Given the description of an element on the screen output the (x, y) to click on. 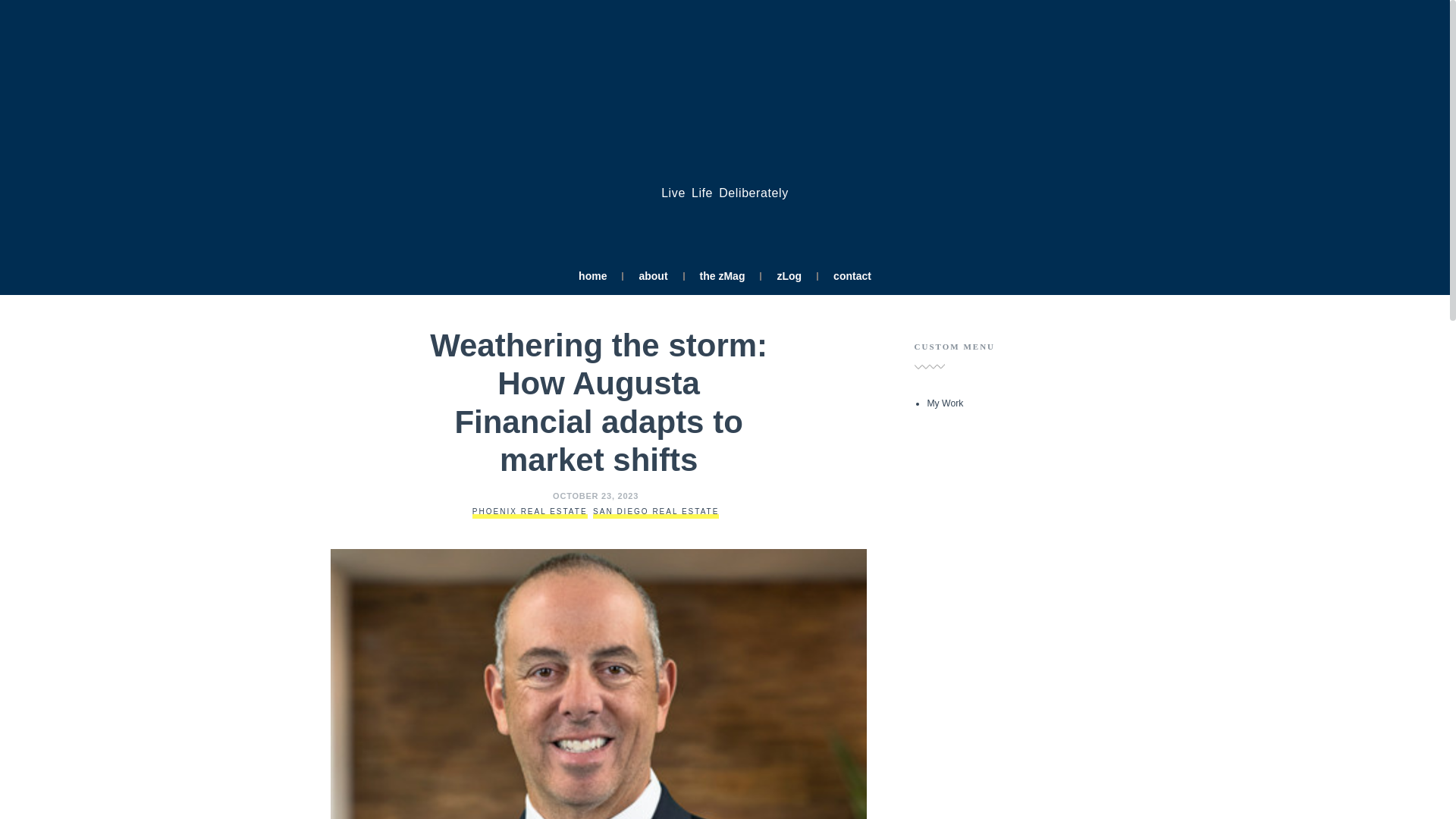
contact (852, 276)
PHOENIX REAL ESTATE (529, 511)
home (592, 276)
SAN DIEGO REAL ESTATE (655, 511)
about (652, 276)
the zMag (722, 276)
My Work (944, 403)
zLog (788, 276)
